Given the description of an element on the screen output the (x, y) to click on. 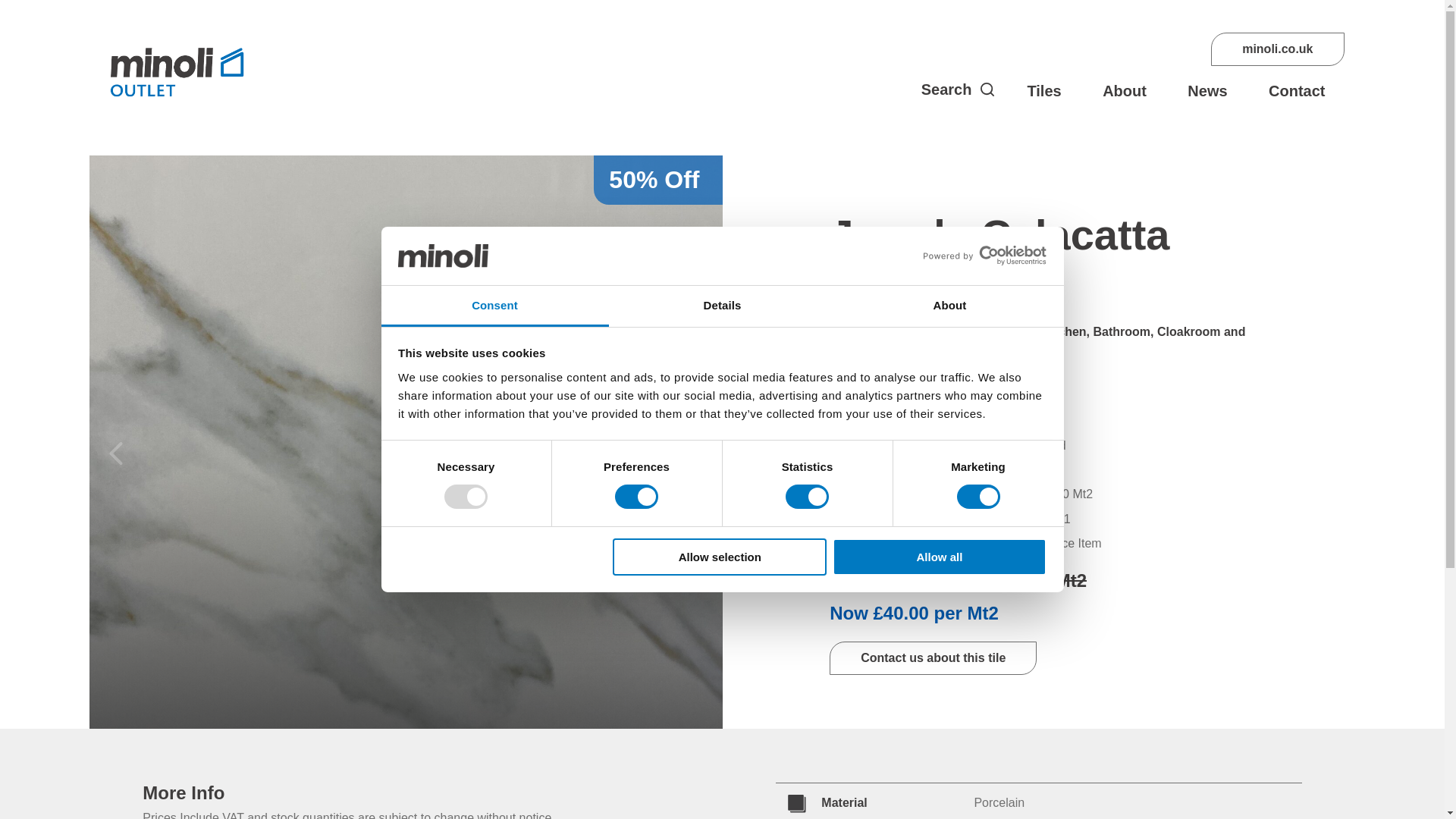
Consent (494, 305)
Allow all (939, 556)
Details (721, 305)
Allow selection (719, 556)
About (948, 305)
